Given the description of an element on the screen output the (x, y) to click on. 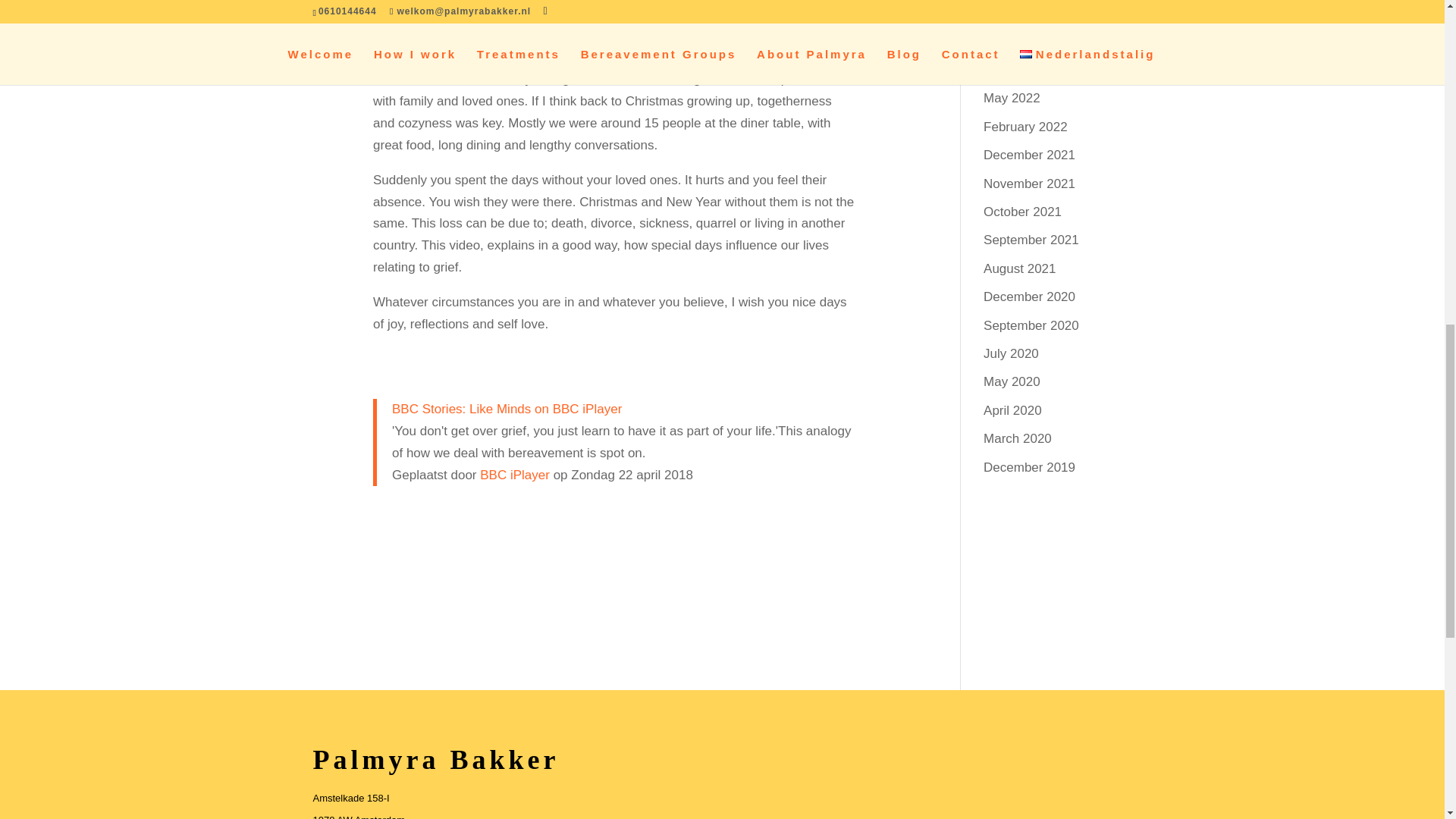
May 2022 (1012, 97)
February 2022 (1025, 126)
November 2022 (1029, 69)
December 2021 (1029, 155)
December 2022 (1029, 42)
November 2021 (1029, 183)
October 2023 (1022, 12)
BBC Stories: Like Minds on BBC iPlayer (506, 409)
BBC iPlayer (515, 473)
